Given the description of an element on the screen output the (x, y) to click on. 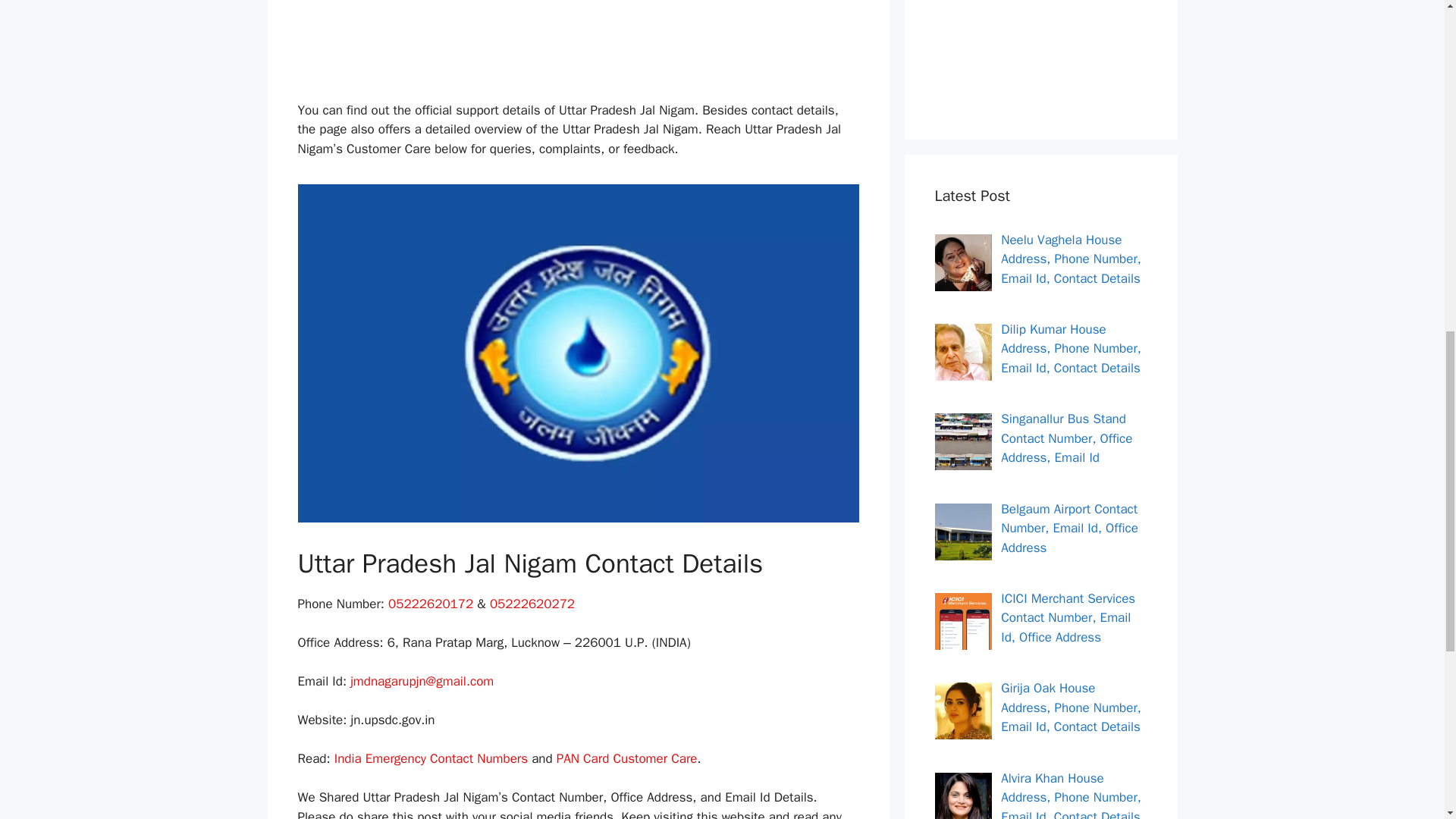
05222620172 (430, 603)
05222620272 (532, 603)
Advertisement (1040, 51)
Advertisement (592, 47)
India Emergency Contact Numbers (430, 758)
PAN Card Customer Care (626, 758)
